Given the description of an element on the screen output the (x, y) to click on. 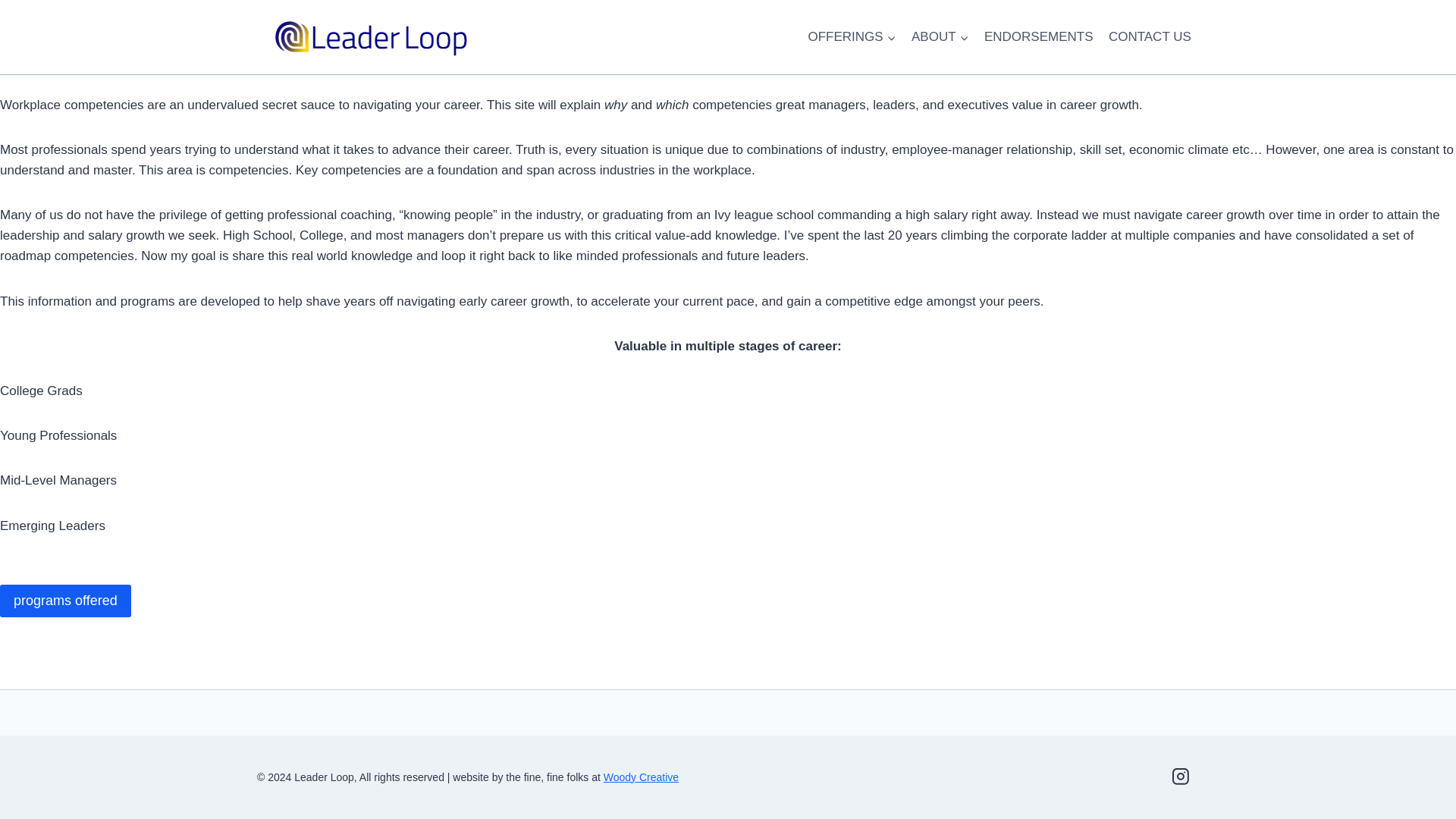
CONTACT US (1149, 36)
programs offered (65, 600)
ABOUT (940, 36)
OFFERINGS (851, 36)
ENDORSEMENTS (1038, 36)
Woody Creative (641, 776)
